Given the description of an element on the screen output the (x, y) to click on. 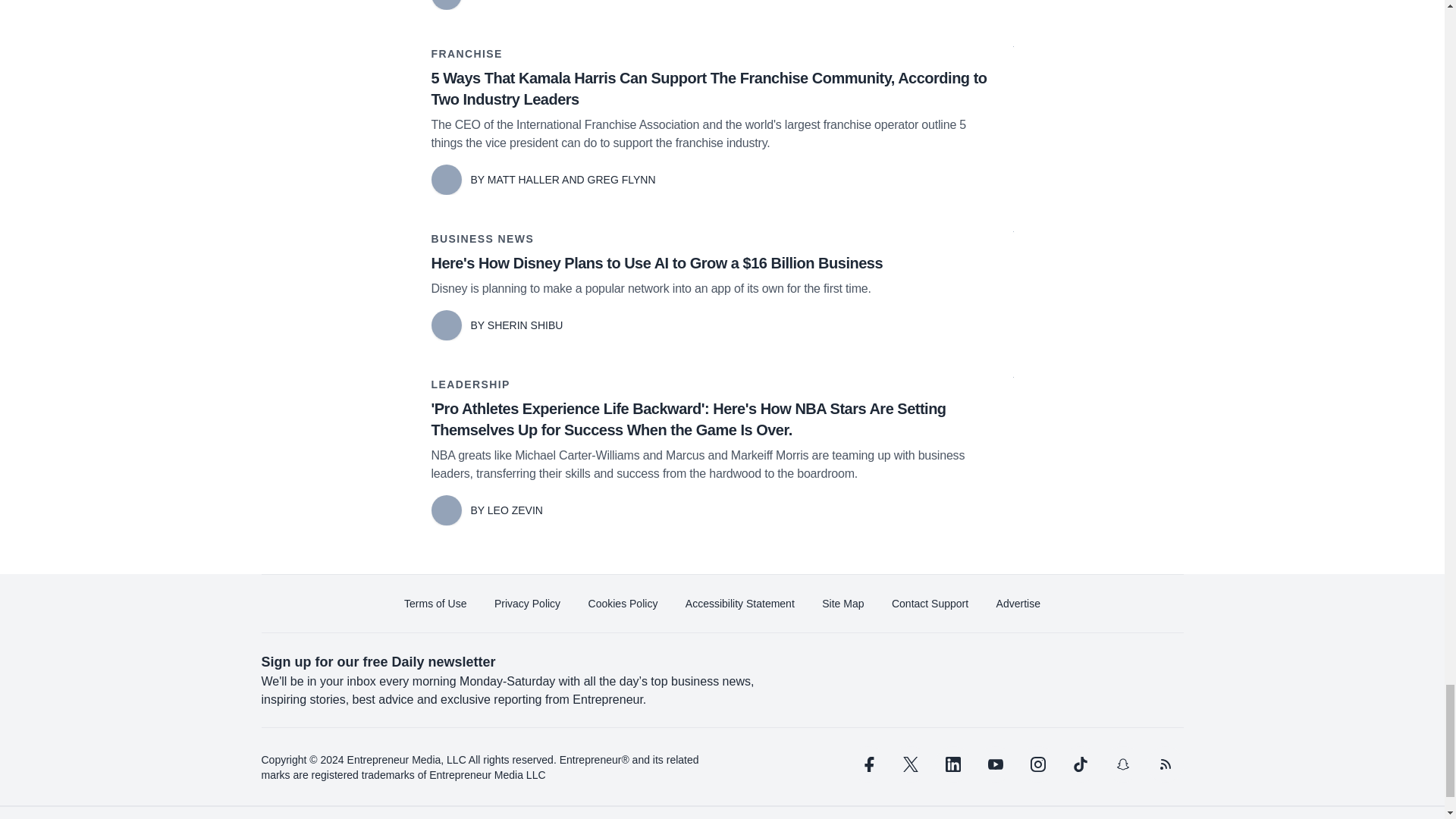
snapchat (1121, 764)
tiktok (1079, 764)
instagram (1037, 764)
youtube (994, 764)
linkedin (952, 764)
facebook (866, 764)
twitter (909, 764)
